Given the description of an element on the screen output the (x, y) to click on. 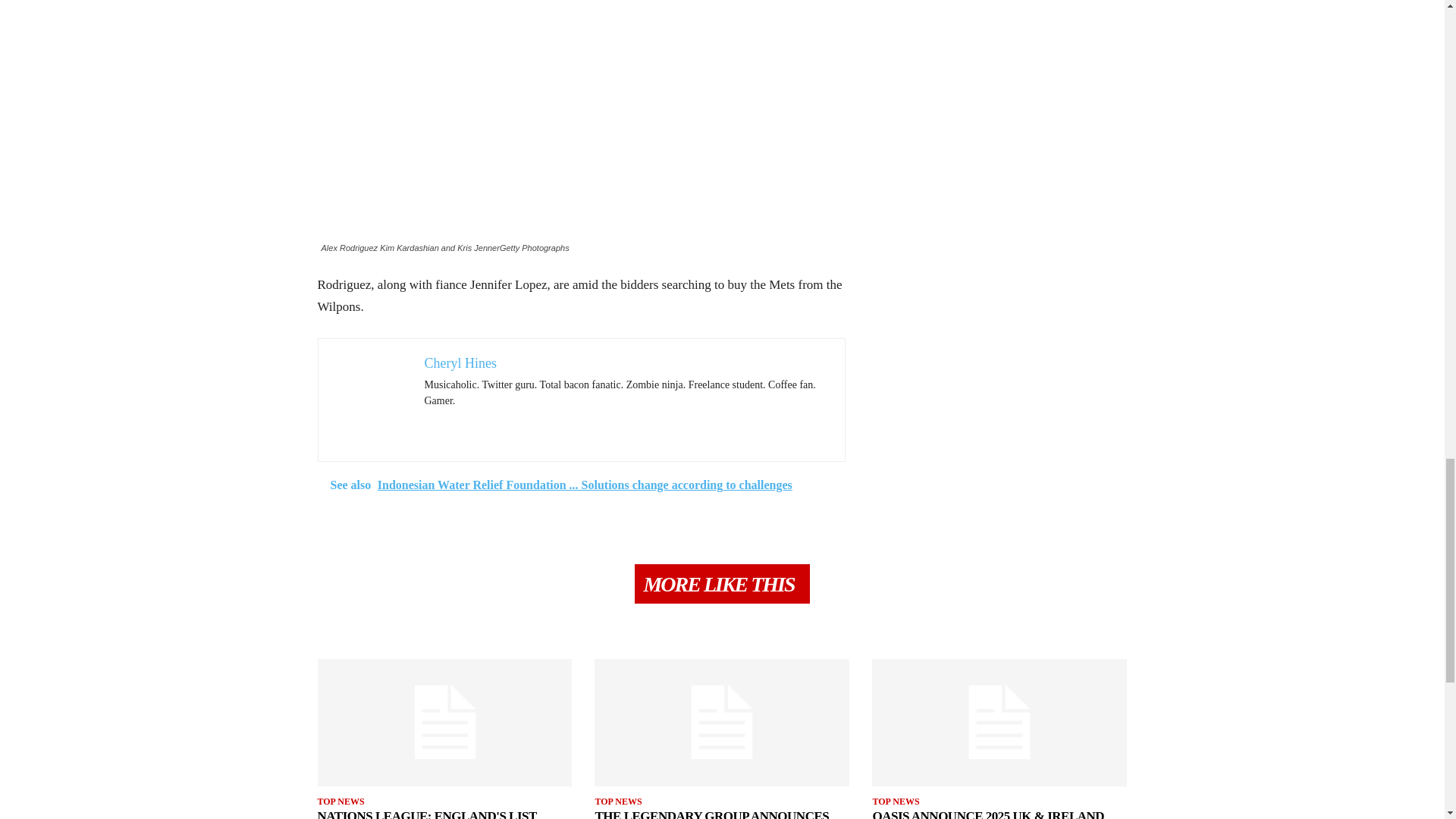
Nations League: England's list against Ireland and Finland! (444, 722)
Cheryl Hines (460, 363)
Nations League: England's list against Ireland and Finland! (426, 814)
